Given the description of an element on the screen output the (x, y) to click on. 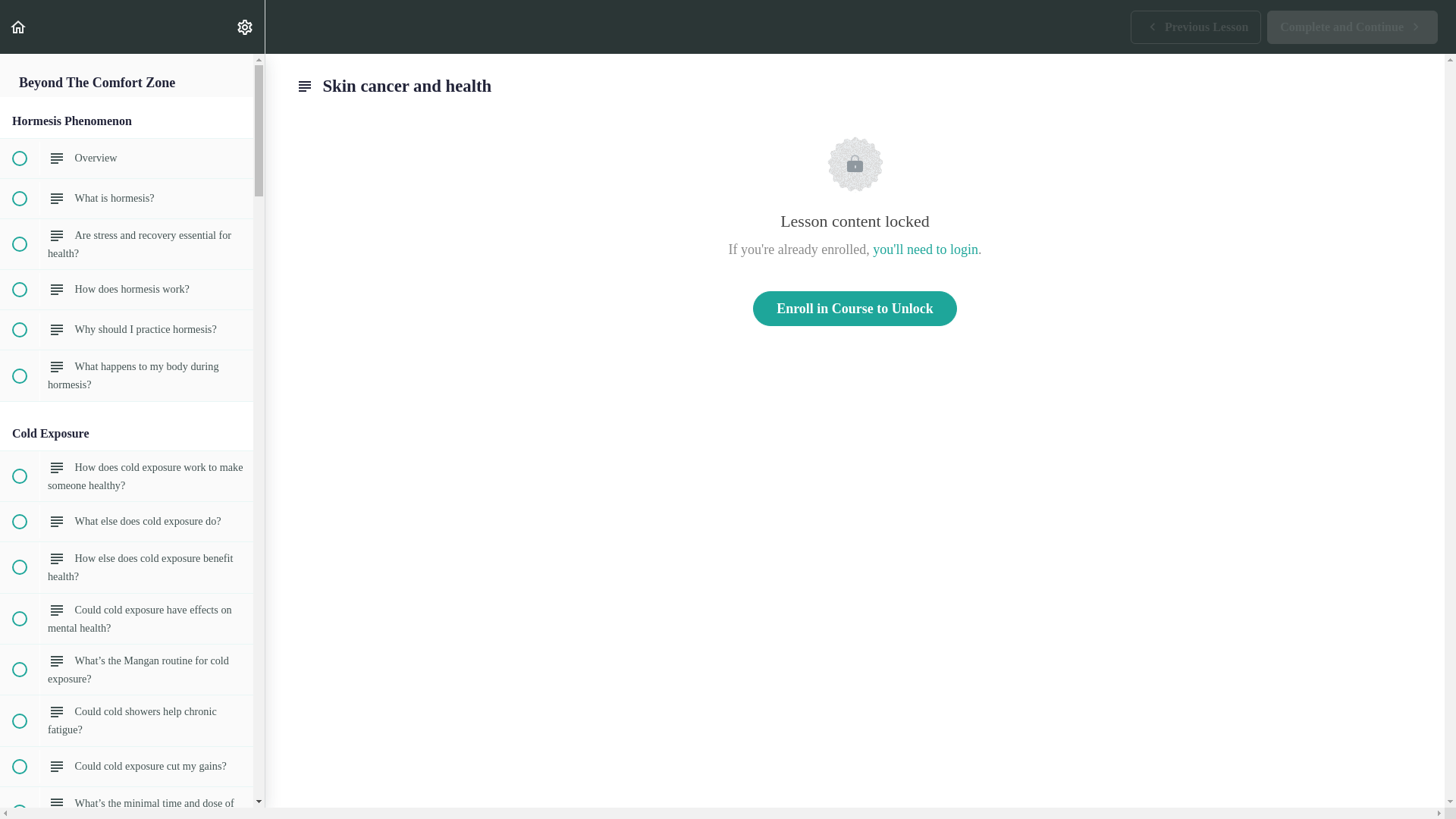
Settings Menu (244, 27)
  Are stress and recovery essential for health? (1352, 27)
  Could cold exposure cut my gains? (126, 244)
Back to course curriculum (126, 766)
  Overview (17, 27)
  What else does cold exposure do? (126, 158)
  How else does cold exposure benefit health? (126, 521)
Beyond The Comfort Zone (126, 567)
  What is hormesis? (854, 308)
  Why should I practice hormesis? (126, 198)
  How does cold exposure work to make someone healthy? (126, 329)
  Previous Lesson (126, 476)
  What happens to my body during hormesis? (1195, 27)
  How does hormesis work? (126, 375)
